Given the description of an element on the screen output the (x, y) to click on. 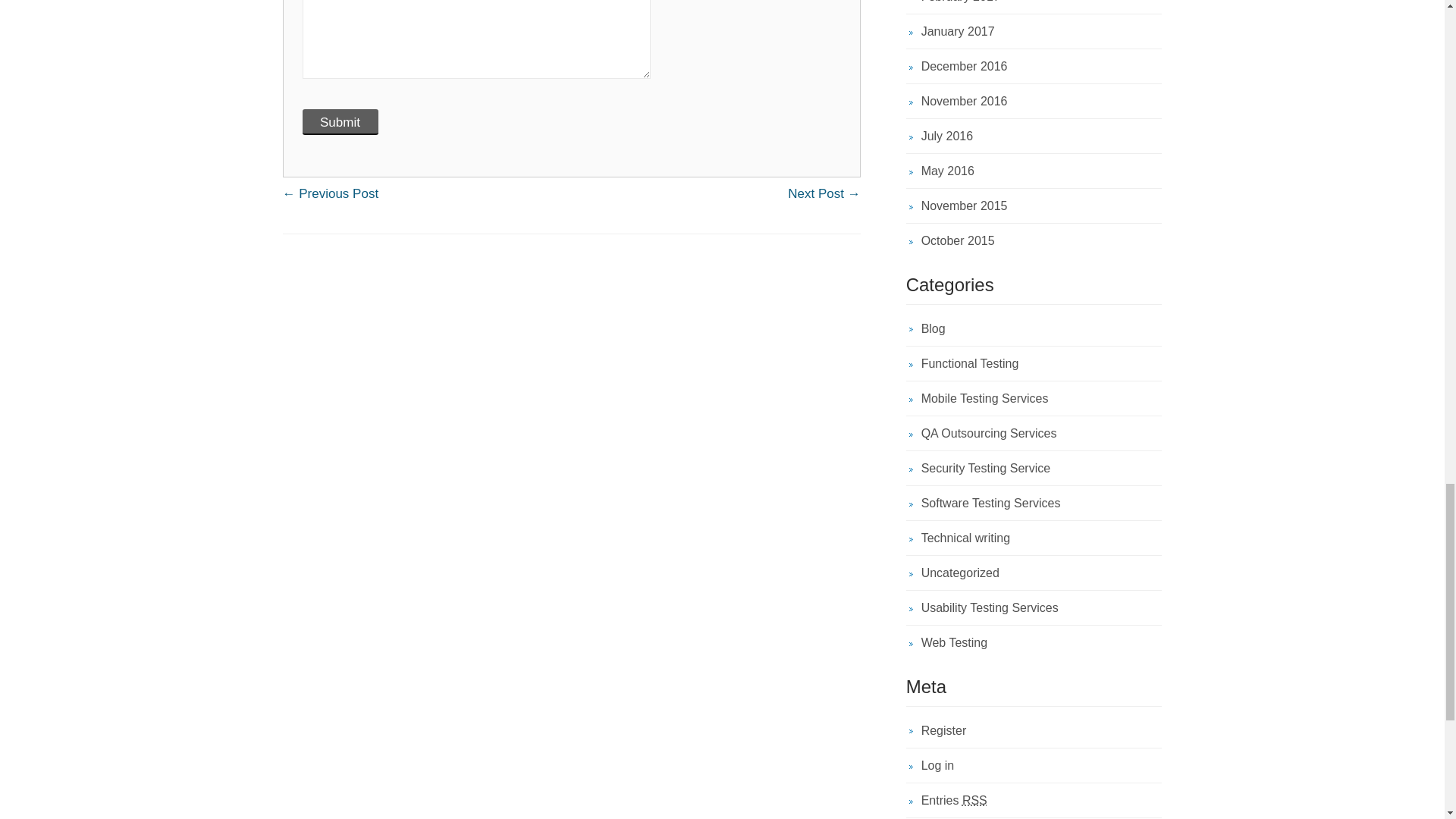
Submit (339, 121)
Really Simple Syndication (974, 799)
Submit (339, 121)
